Given the description of an element on the screen output the (x, y) to click on. 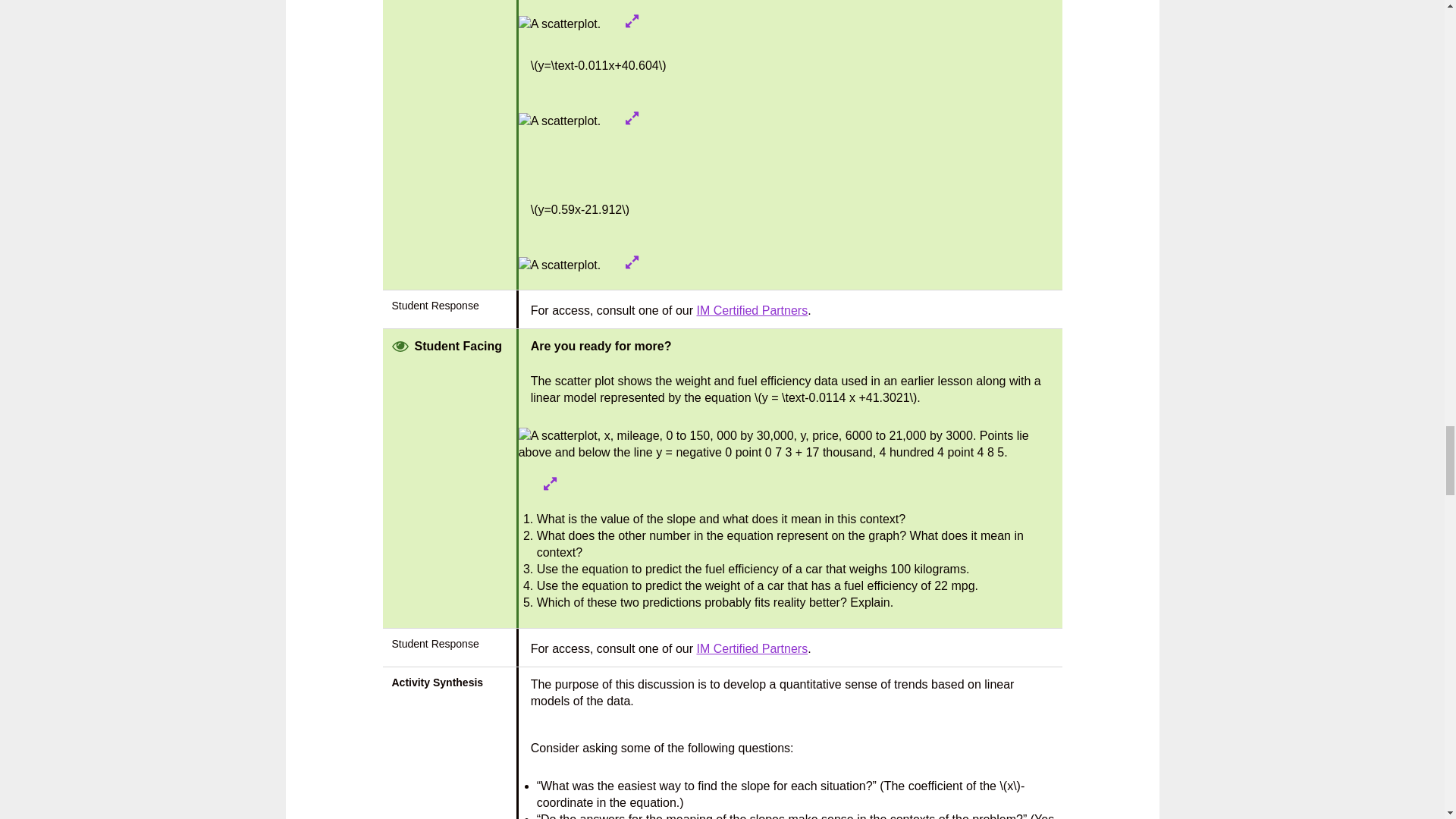
Expand image (550, 483)
Expand image (632, 20)
Expand image (632, 262)
Expand image (632, 118)
